Given the description of an element on the screen output the (x, y) to click on. 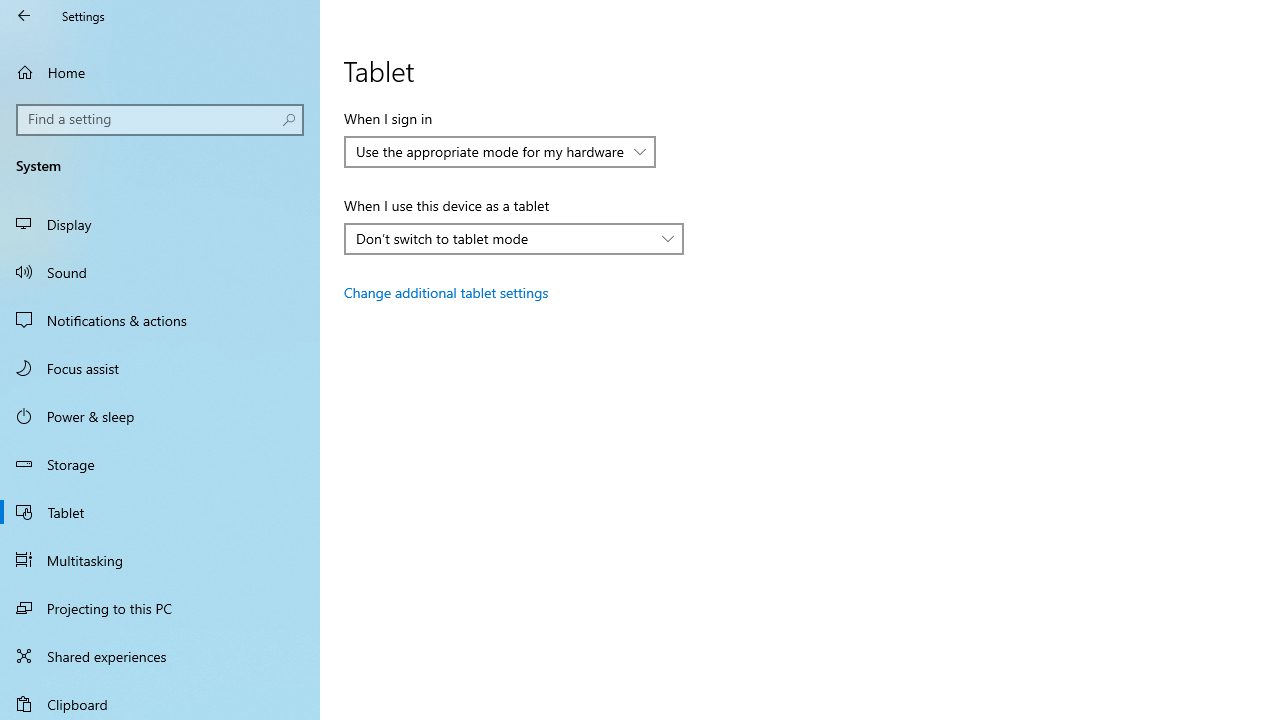
Search box, Find a setting (160, 119)
Focus assist (160, 367)
Display (160, 223)
When I use this device as a tablet (513, 238)
Use the appropriate mode for my hardware (489, 151)
Projecting to this PC (160, 607)
Storage (160, 463)
Tablet (160, 511)
Back (24, 15)
Multitasking (160, 559)
When I sign in (499, 151)
Change additional tablet settings (446, 291)
Notifications & actions (160, 319)
Power & sleep (160, 415)
